Given the description of an element on the screen output the (x, y) to click on. 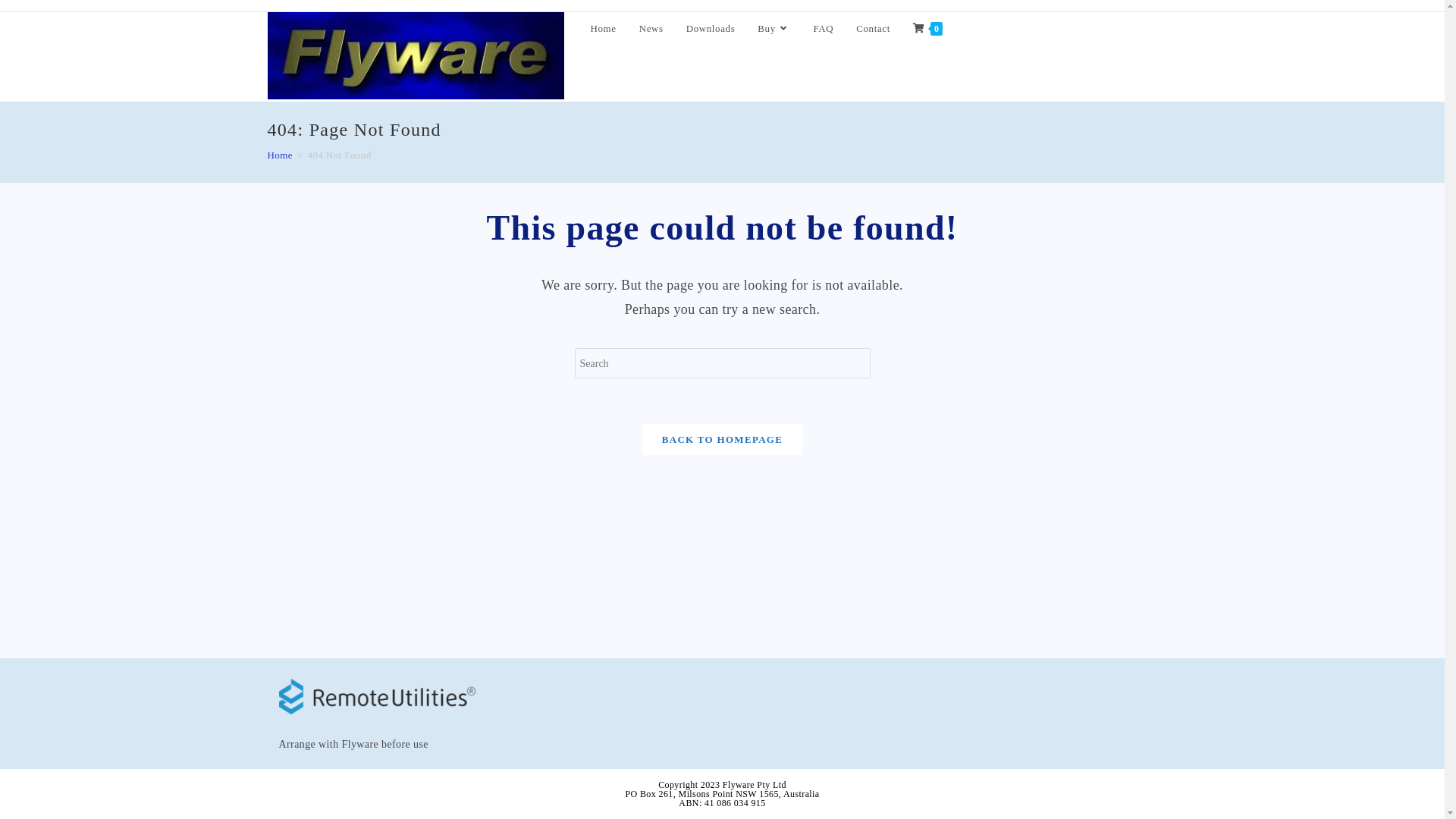
Home Element type: text (603, 28)
Buy Element type: text (773, 28)
FAQ Element type: text (822, 28)
Contact Element type: text (872, 28)
BACK TO HOMEPAGE Element type: text (722, 439)
Home Element type: text (278, 154)
News Element type: text (650, 28)
0 Element type: text (927, 28)
Downloads Element type: text (710, 28)
